Given the description of an element on the screen output the (x, y) to click on. 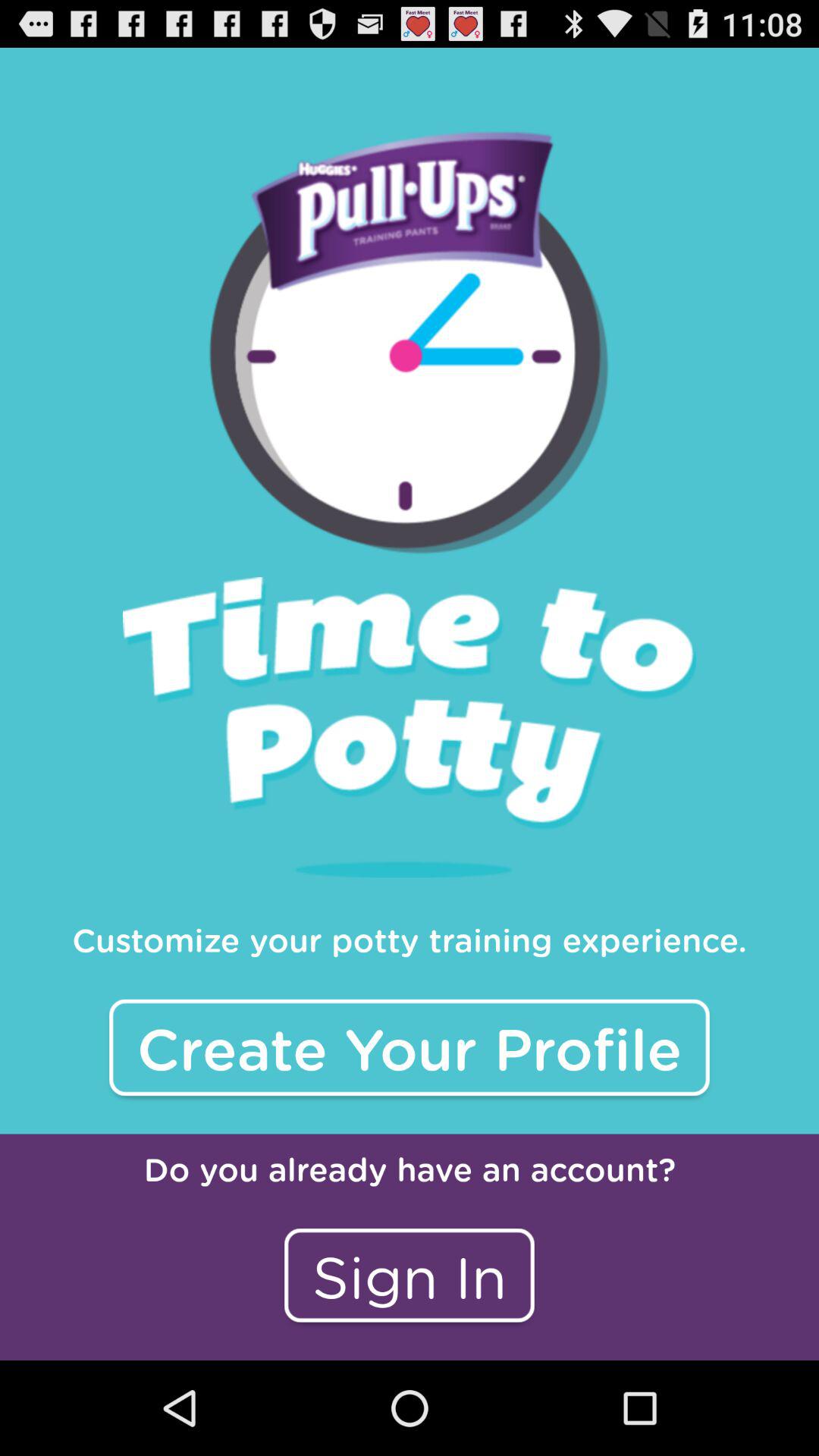
press the item below the customize your potty item (409, 1047)
